Given the description of an element on the screen output the (x, y) to click on. 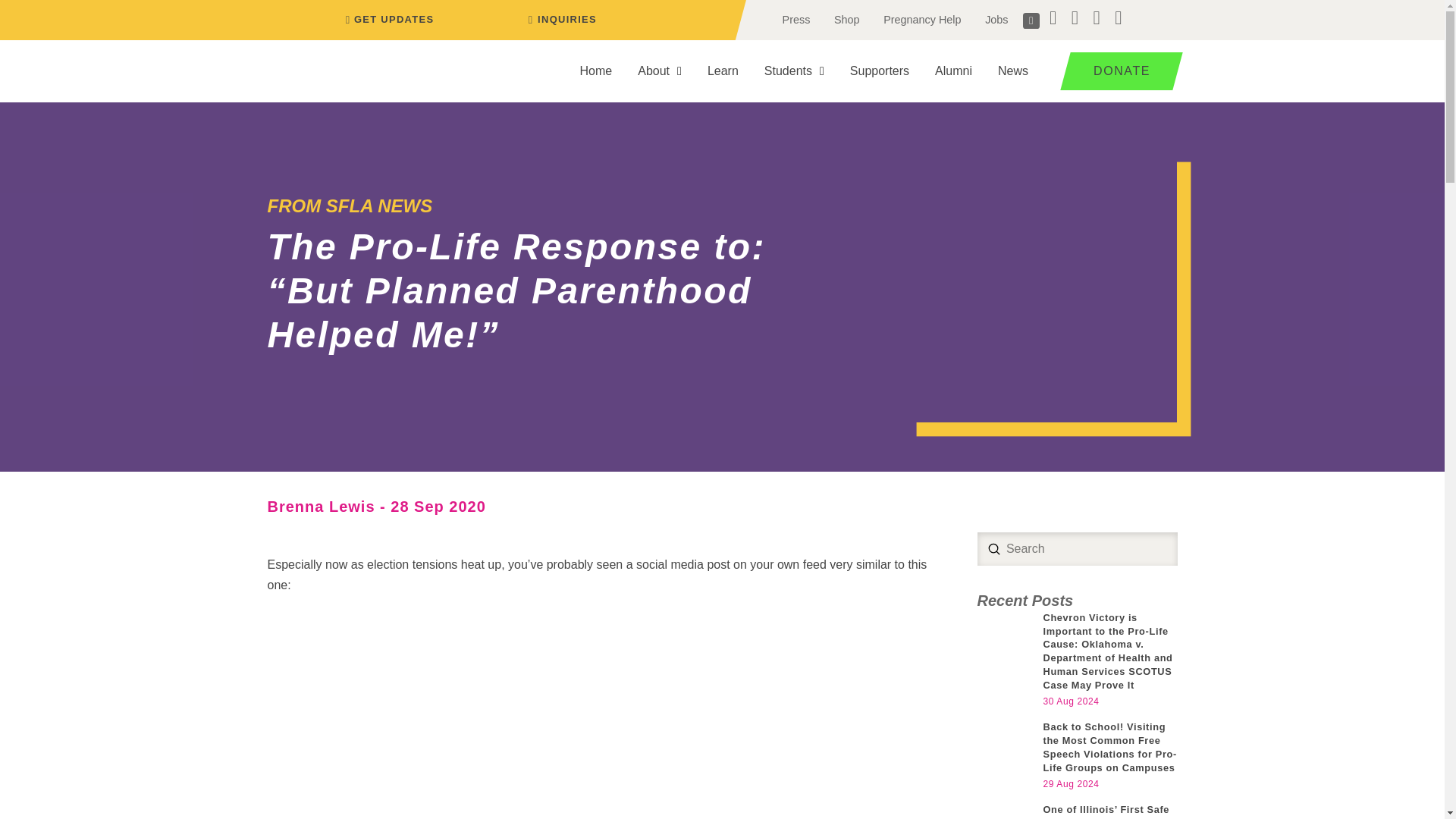
GET UPDATES (386, 20)
Shop (846, 20)
Pregnancy Help (921, 20)
Press (796, 20)
Learn (722, 71)
About (659, 71)
Home (596, 71)
News (1013, 71)
Jobs (996, 20)
DONATE (1115, 71)
